Given the description of an element on the screen output the (x, y) to click on. 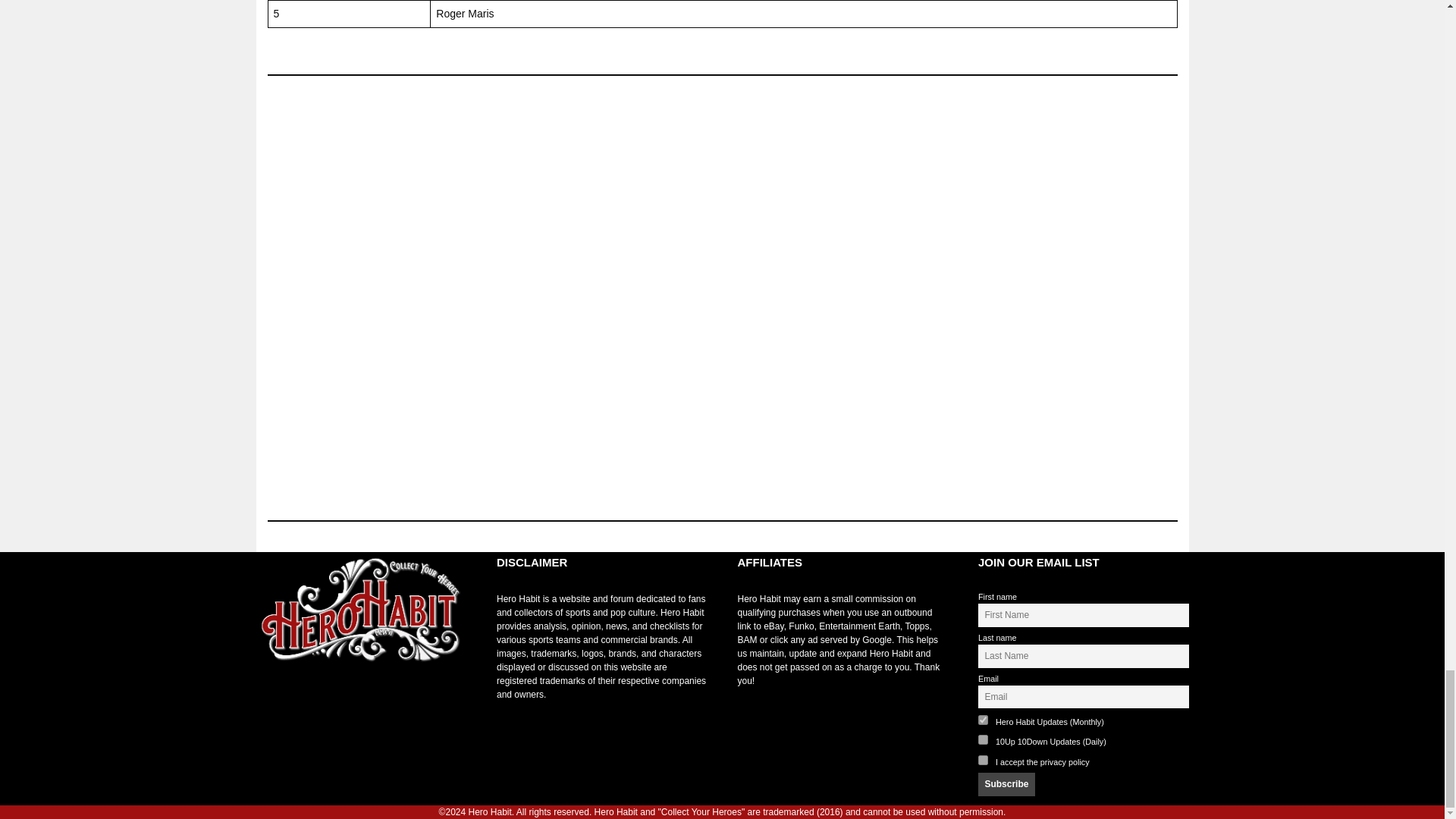
2 (983, 739)
on (983, 759)
Subscribe (1006, 784)
1 (983, 719)
